Given the description of an element on the screen output the (x, y) to click on. 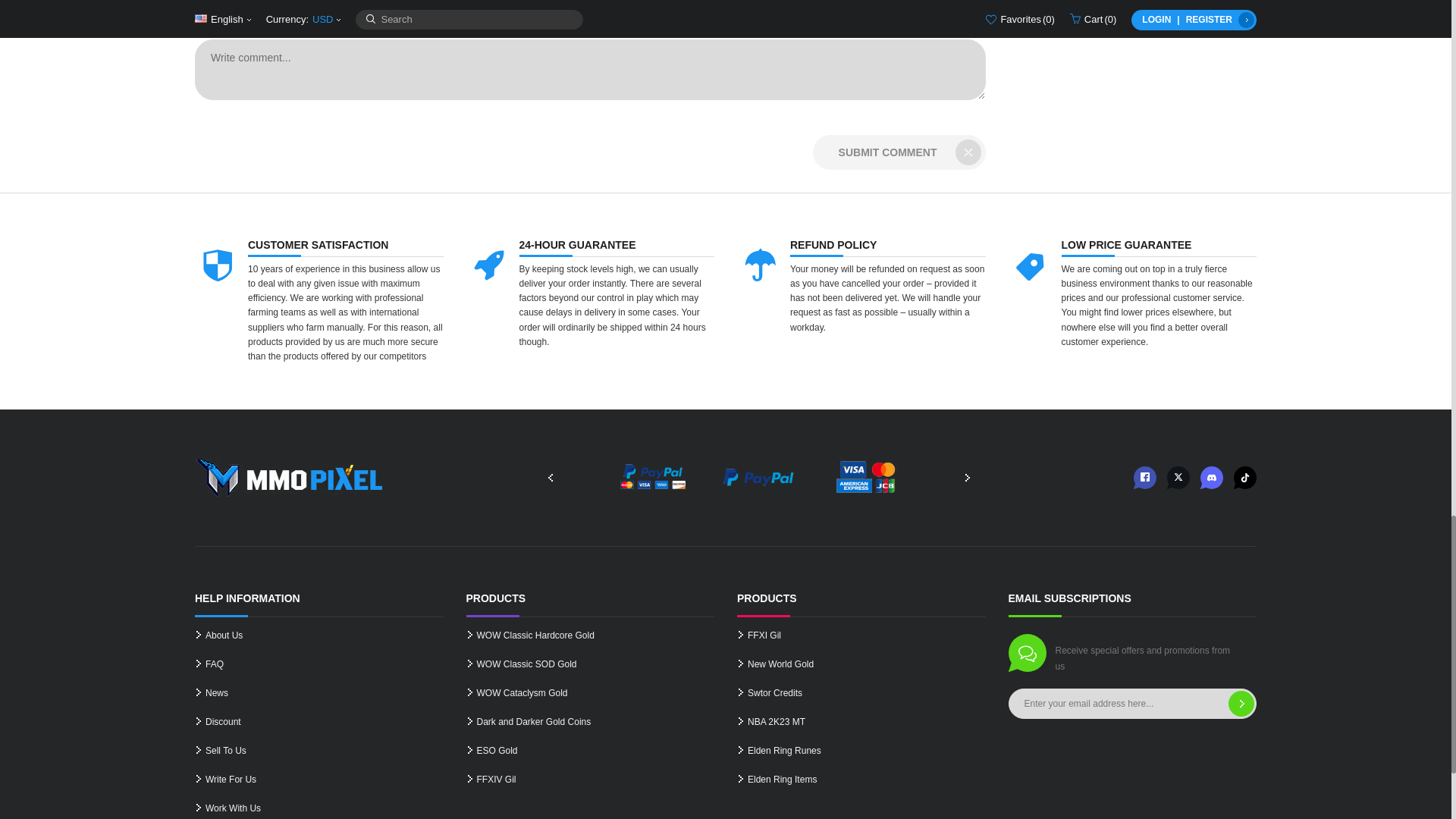
SUBMIT COMMENT (898, 152)
